Given the description of an element on the screen output the (x, y) to click on. 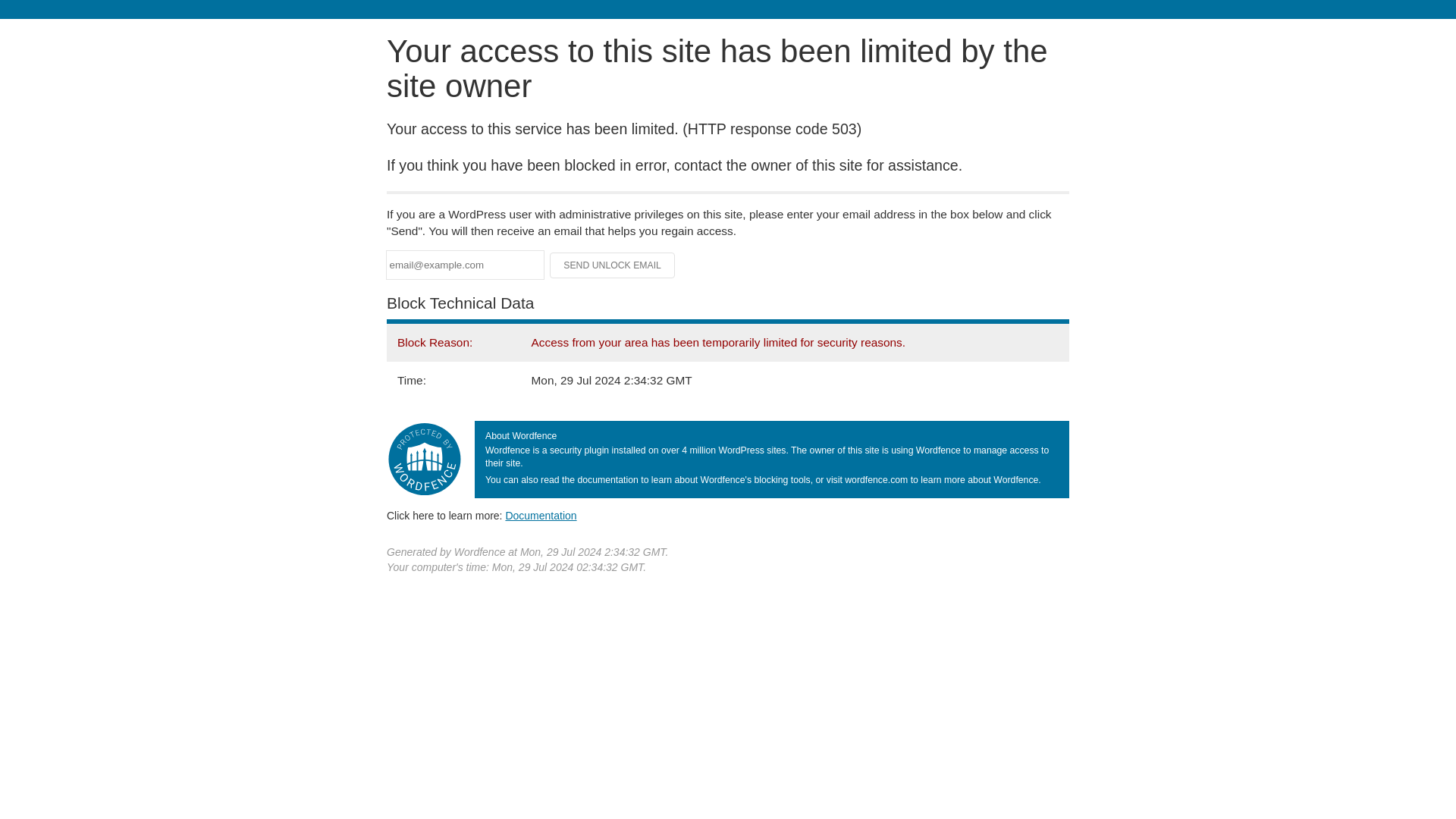
Send Unlock Email (612, 265)
Send Unlock Email (612, 265)
Documentation (540, 515)
